Given the description of an element on the screen output the (x, y) to click on. 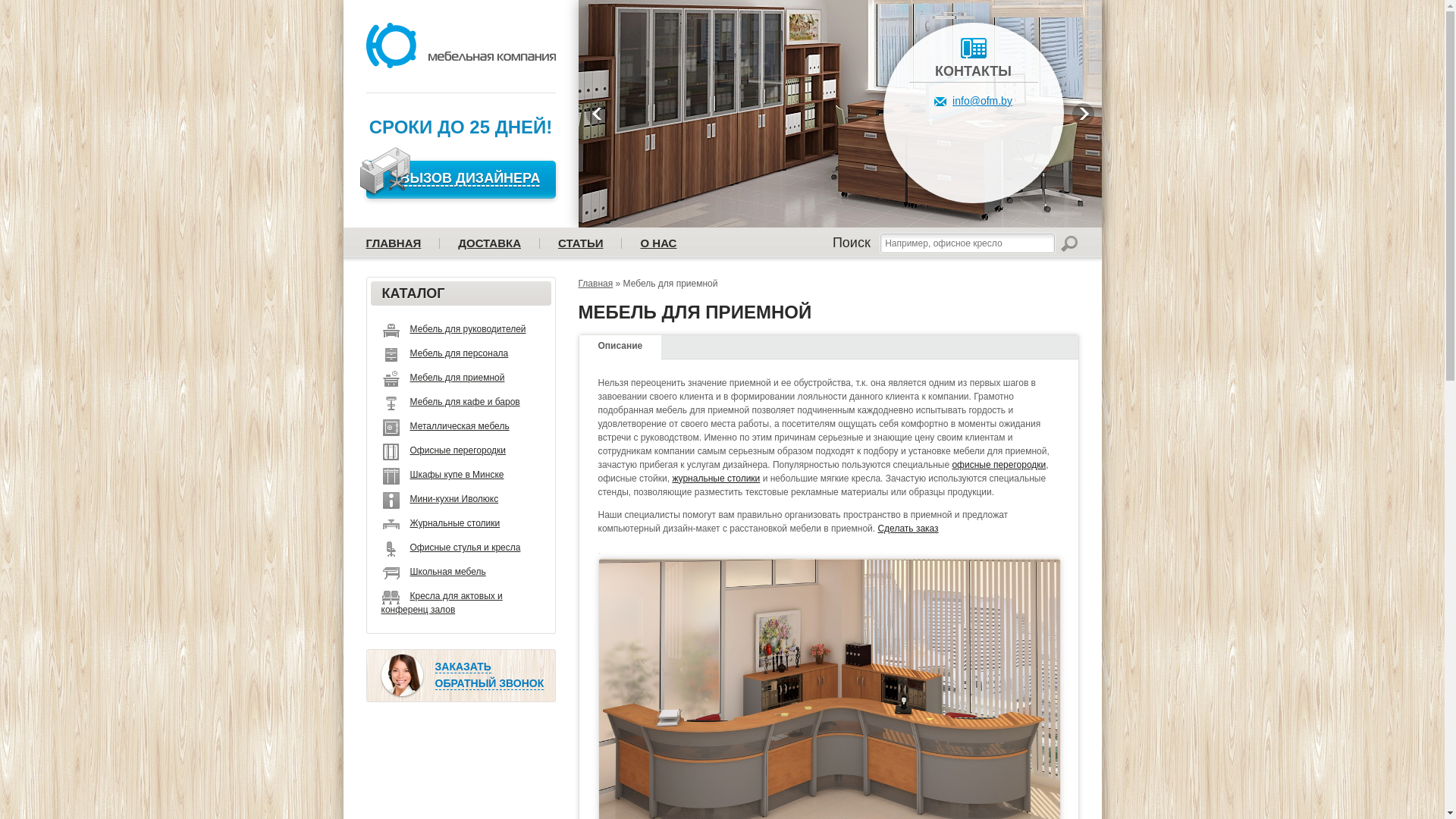
info@ofm.by Element type: text (973, 100)
